Given the description of an element on the screen output the (x, y) to click on. 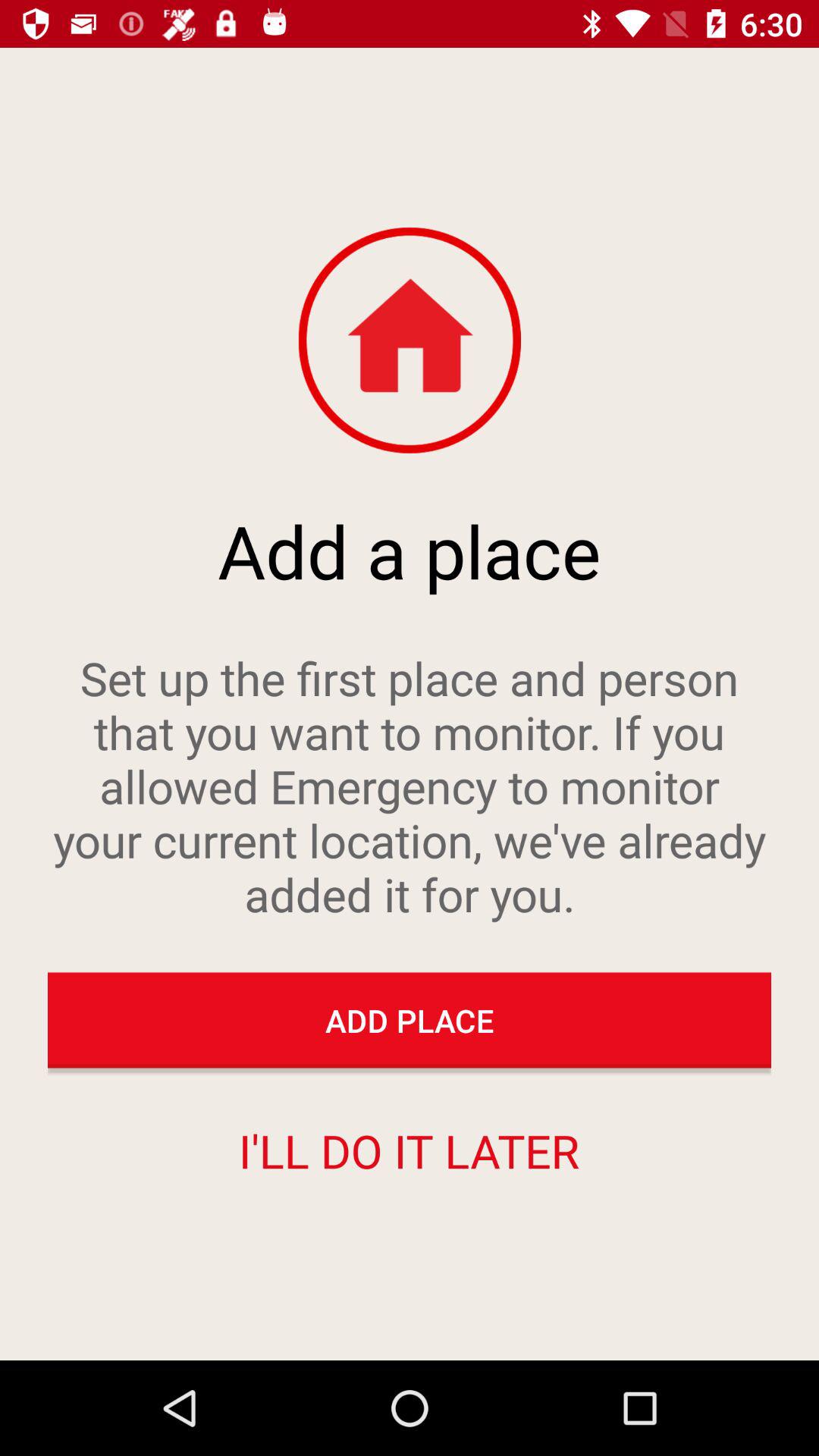
flip until i ll do app (408, 1150)
